Given the description of an element on the screen output the (x, y) to click on. 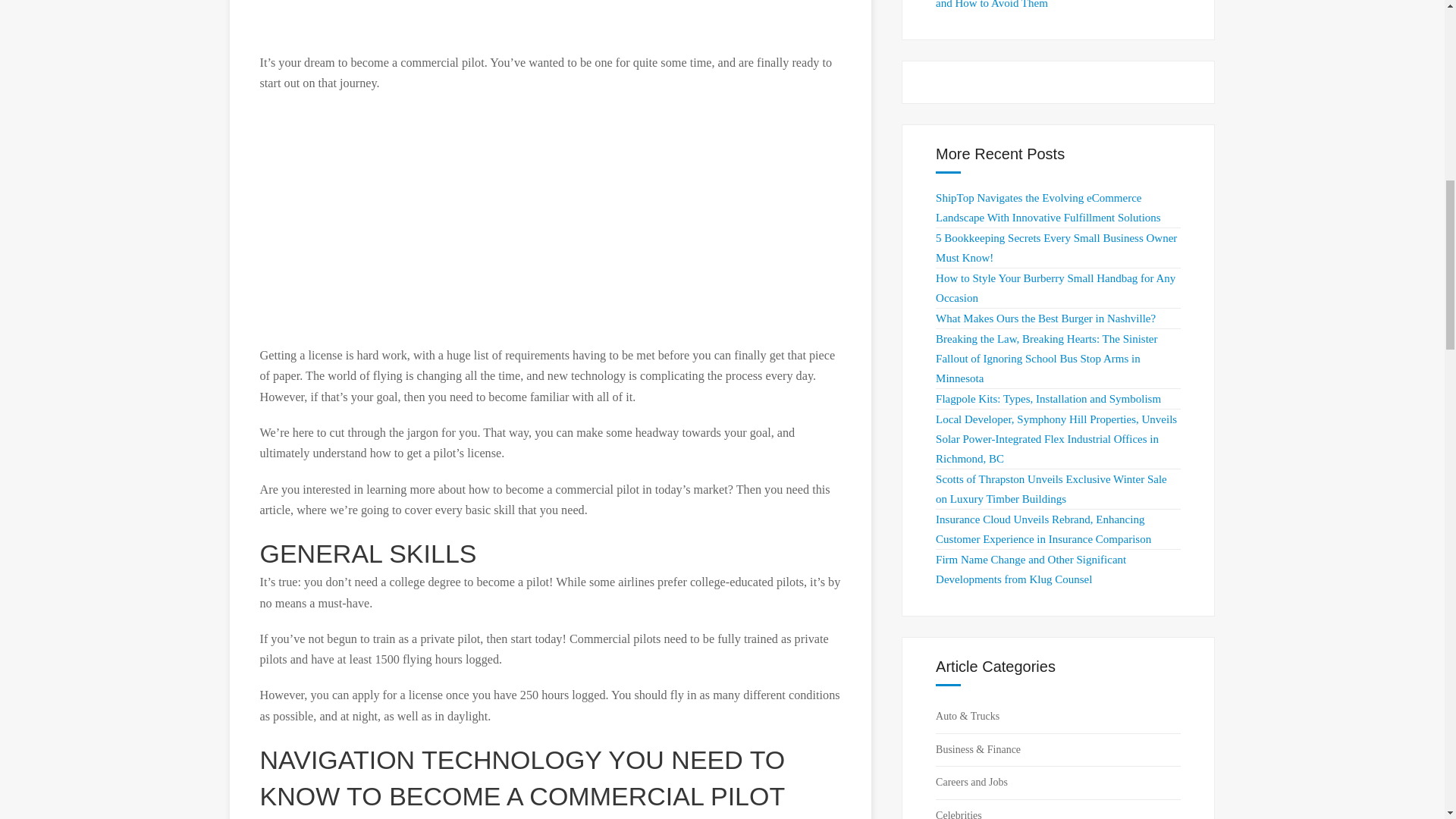
What Makes Ours the Best Burger in Nashville? (1046, 318)
3rd party ad content (549, 219)
How to Style Your Burberry Small Handbag for Any Occasion (1055, 287)
5 Bookkeeping Secrets Every Small Business Owner Must Know! (1056, 247)
